Given the description of an element on the screen output the (x, y) to click on. 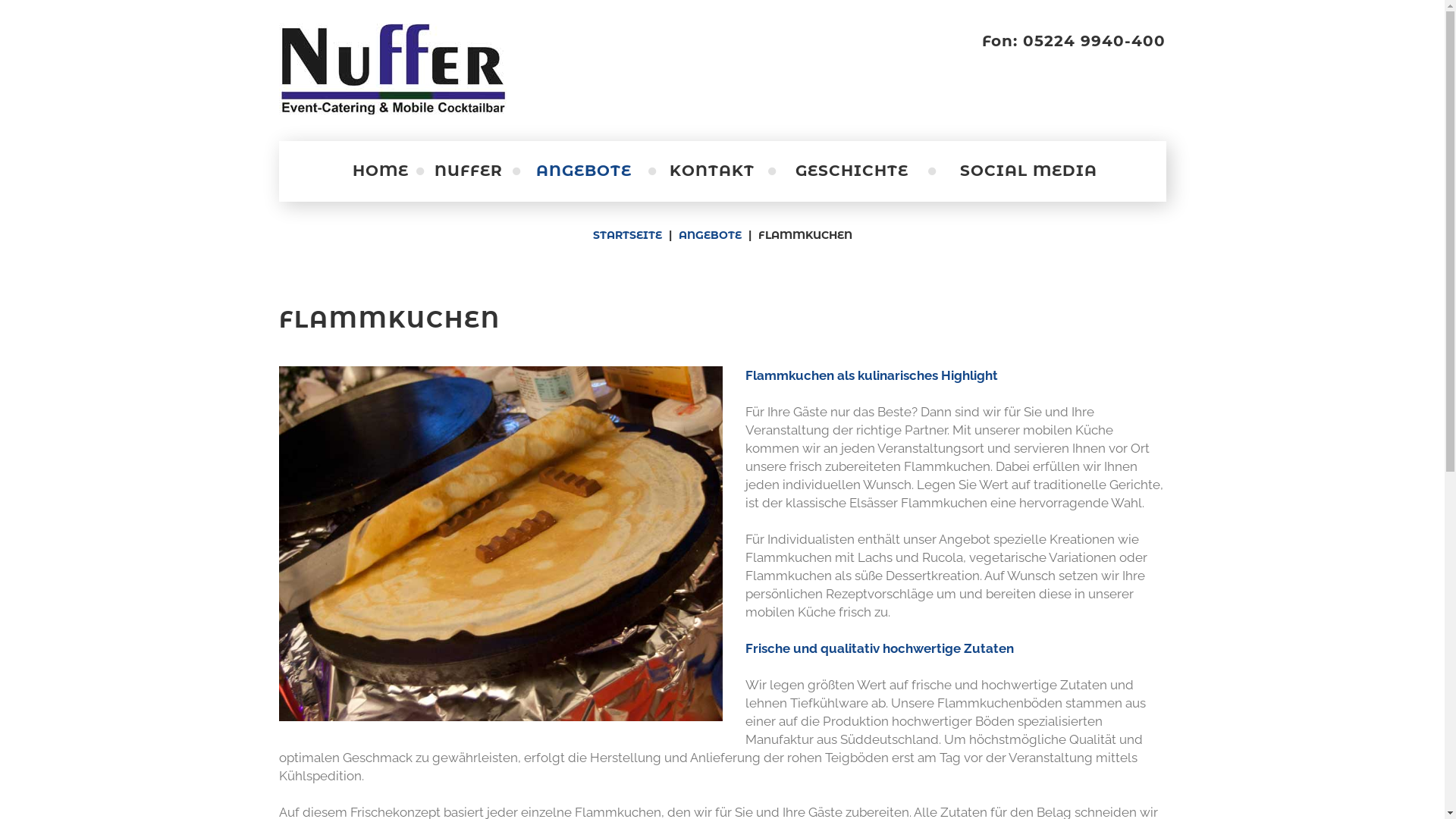
KONTAKT Element type: text (711, 170)
NUFFER Element type: text (468, 170)
HOME Element type: text (380, 170)
EVENT
CATERING
-
NUFFER Element type: text (403, 68)
ANGEBOTE Element type: text (583, 170)
SOCIAL MEDIA Element type: text (1028, 170)
ANGEBOTE Element type: text (708, 234)
STARTSEITE Element type: text (627, 234)
GESCHICHTE Element type: text (851, 170)
